Given the description of an element on the screen output the (x, y) to click on. 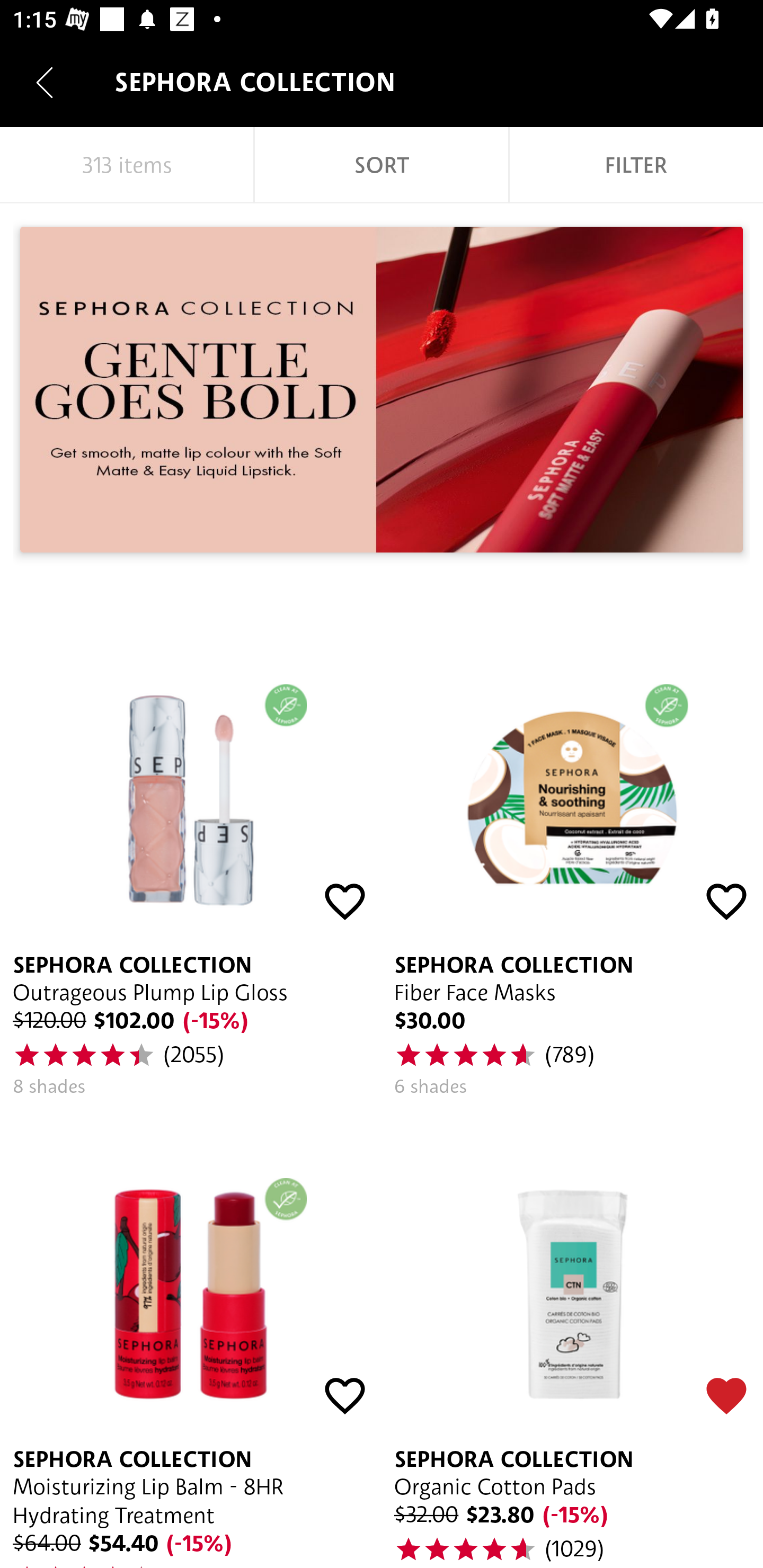
Navigate up (44, 82)
SORT (381, 165)
FILTER (636, 165)
